Given the description of an element on the screen output the (x, y) to click on. 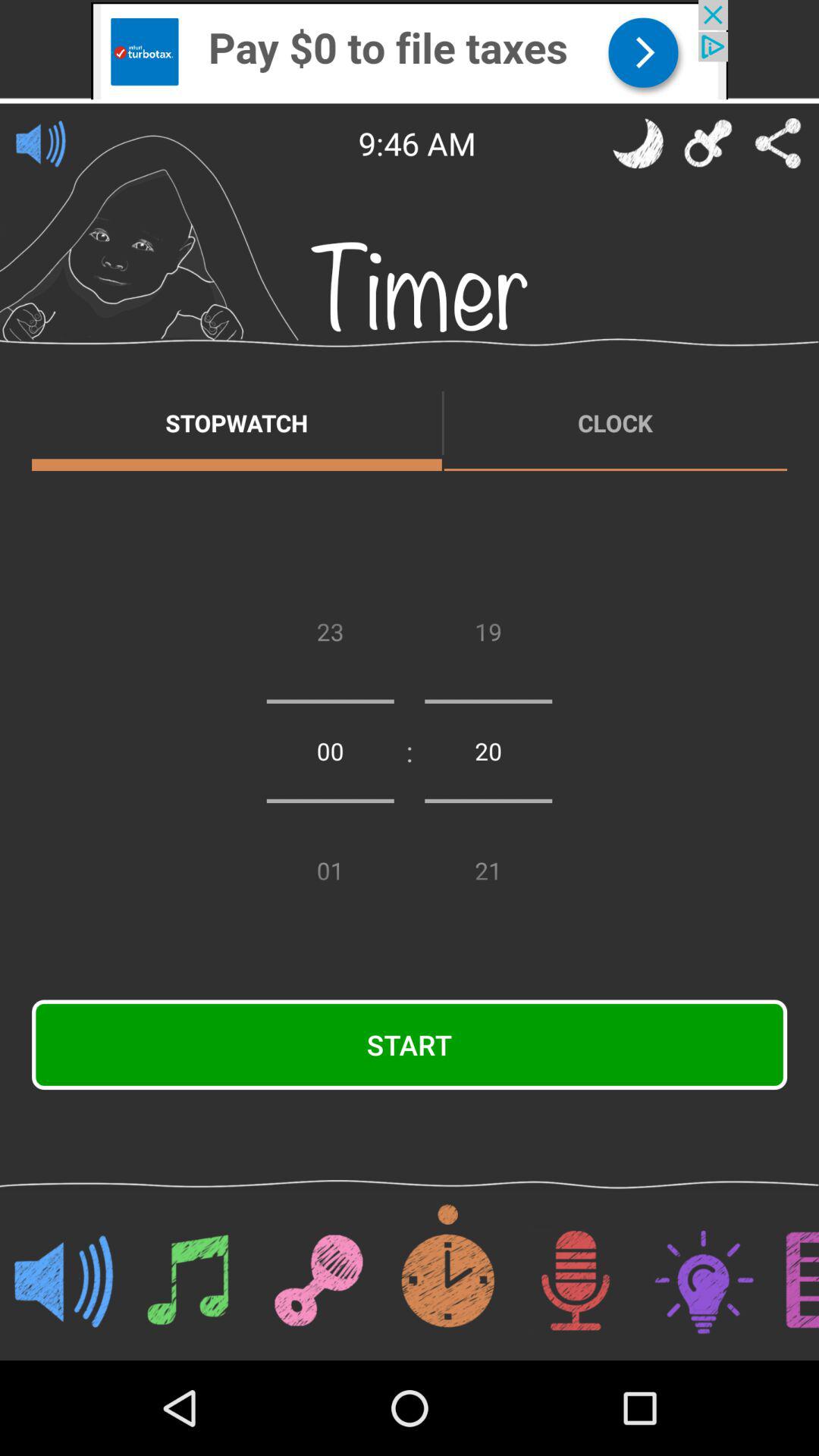
toggle sound (40, 143)
